Given the description of an element on the screen output the (x, y) to click on. 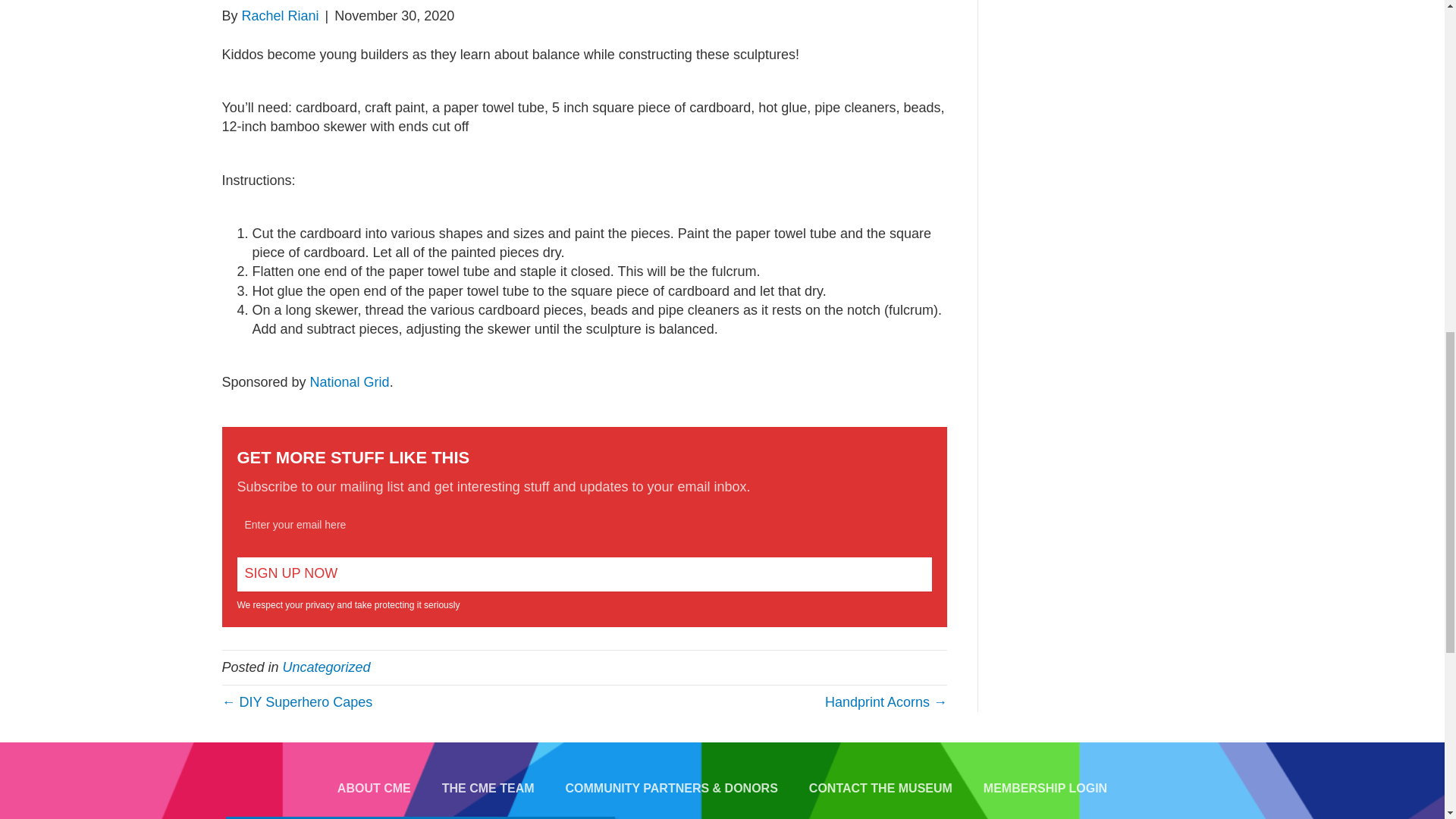
Sign Up Now (583, 574)
ABOUT CME (373, 788)
Rachel Riani (279, 15)
Uncategorized (326, 667)
National Grid (350, 381)
Sign Up Now (583, 574)
